Given the description of an element on the screen output the (x, y) to click on. 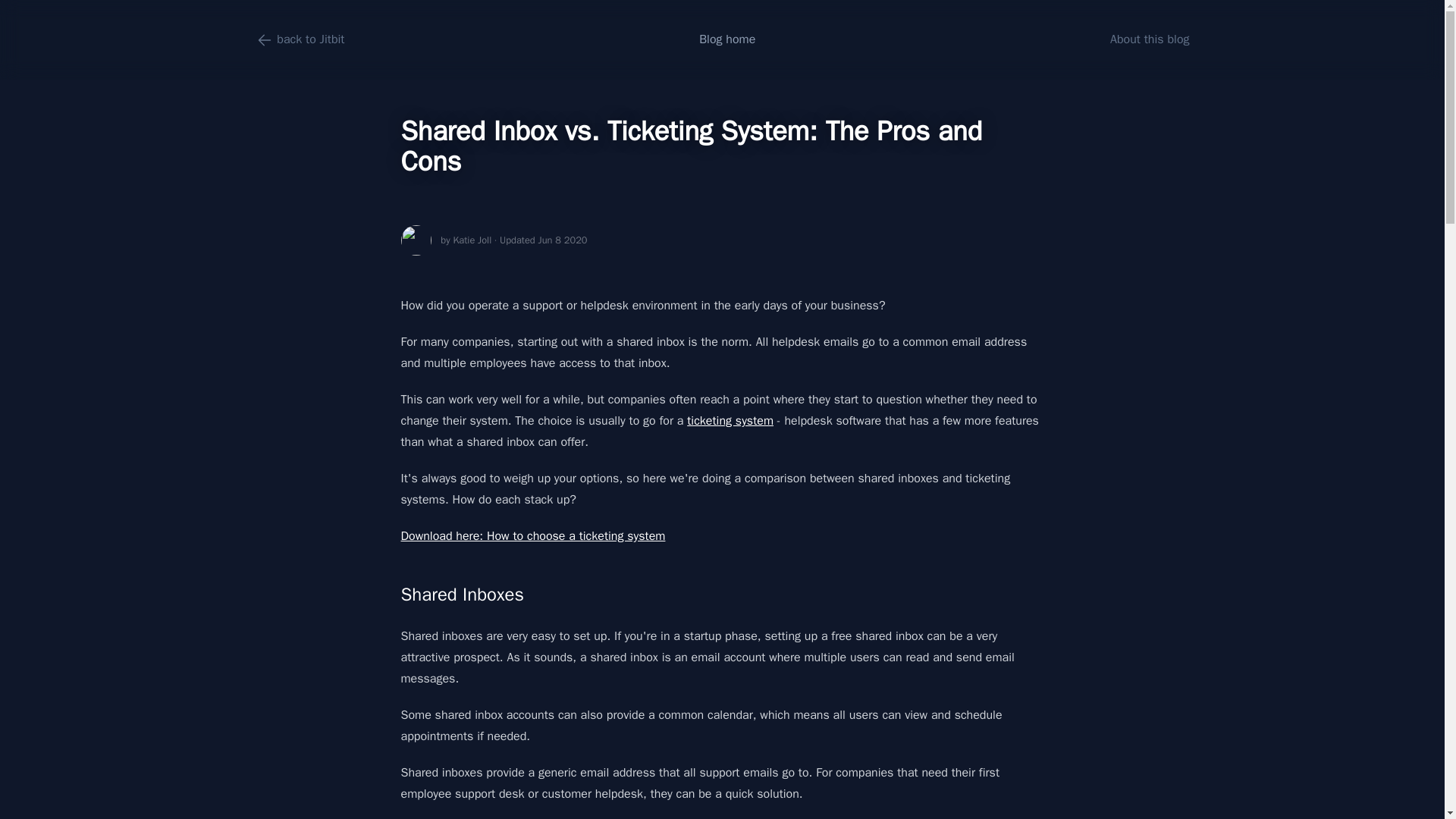
ticketing system (730, 420)
back to Jitbit (298, 39)
Download here: How to choose a ticketing system (532, 535)
Blog home (726, 39)
About this blog (1149, 39)
